Given the description of an element on the screen output the (x, y) to click on. 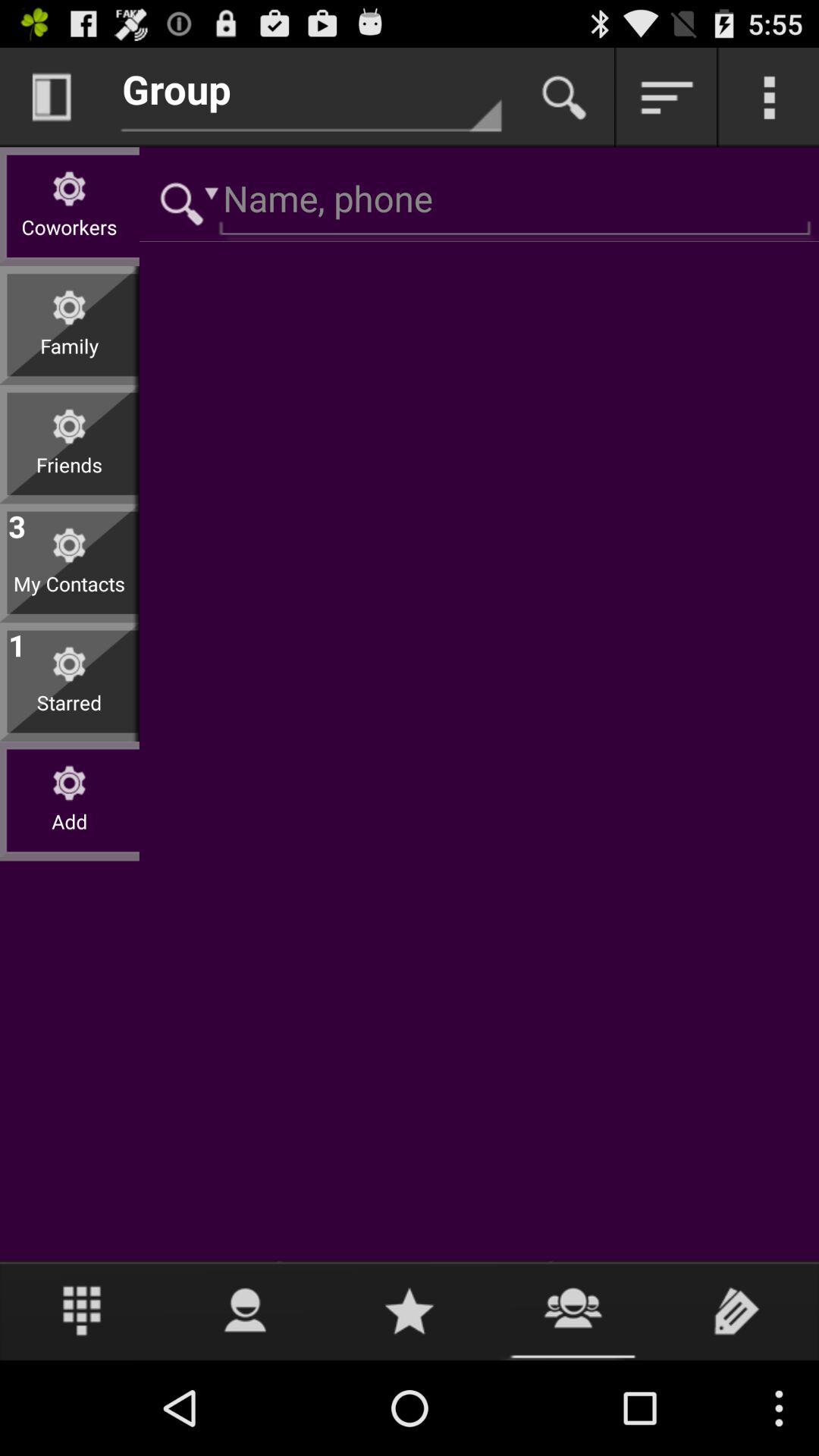
choose sort method (666, 97)
